Given the description of an element on the screen output the (x, y) to click on. 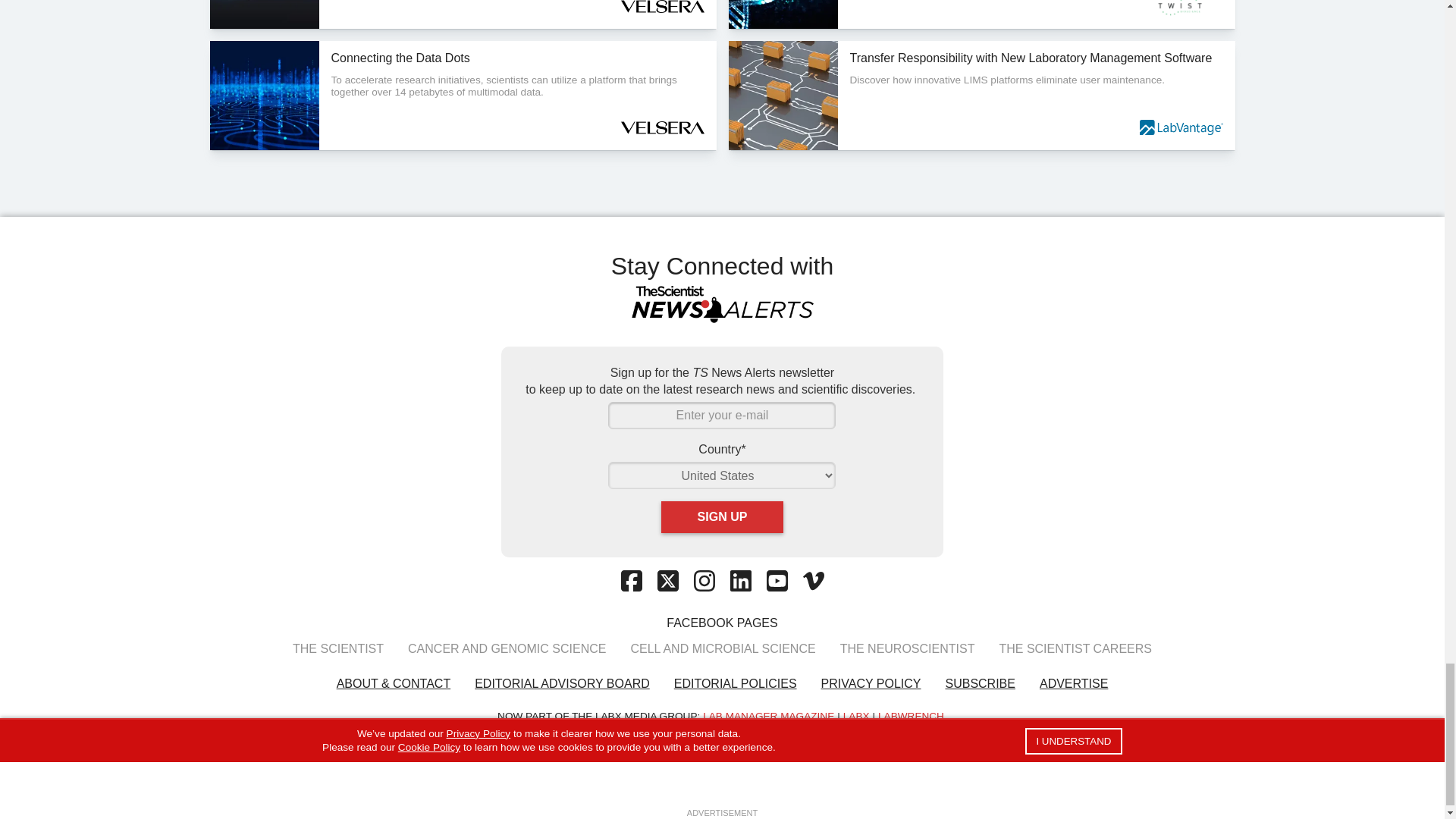
Sign Up (722, 517)
